Given the description of an element on the screen output the (x, y) to click on. 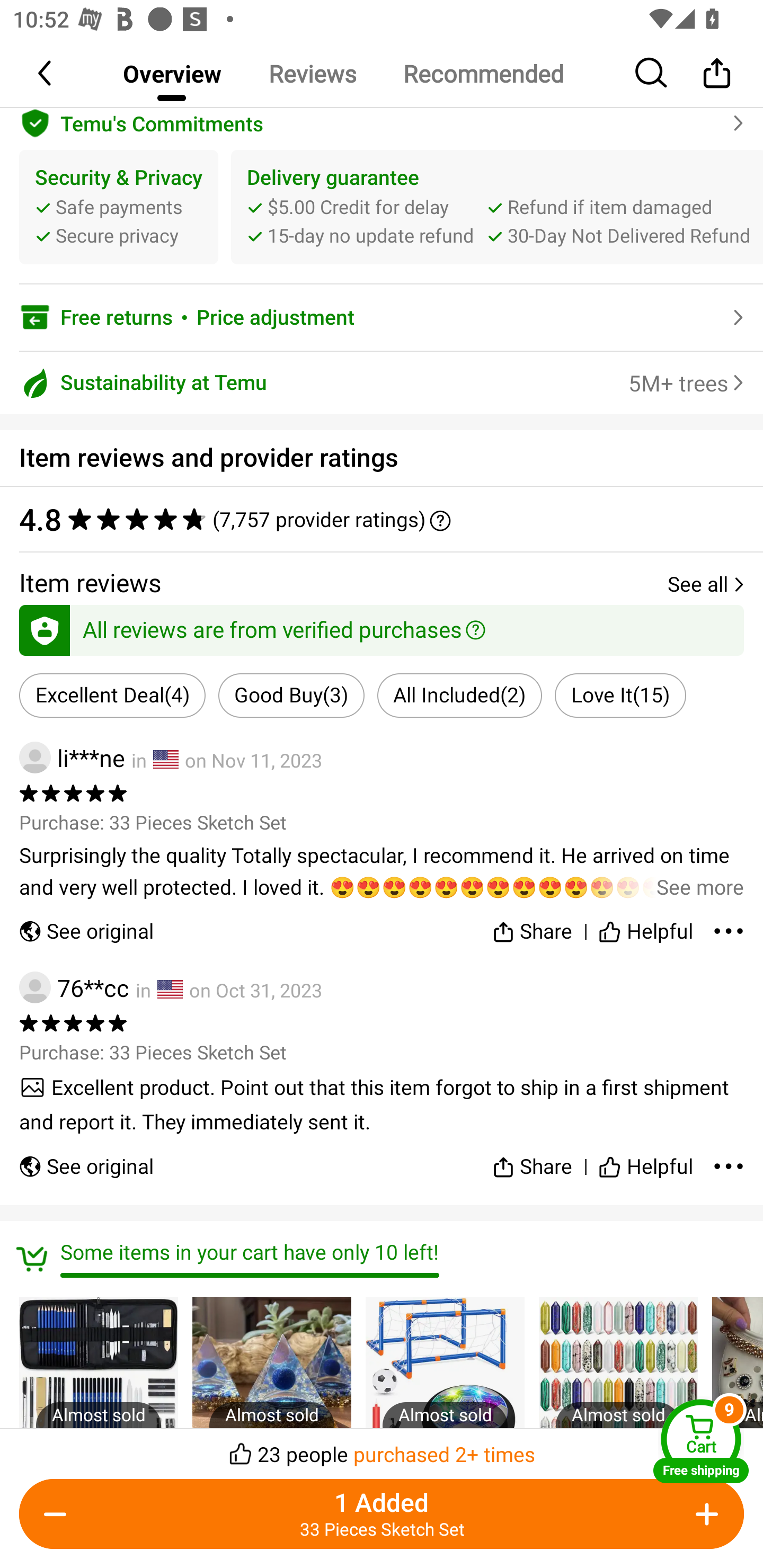
Overview (171, 72)
Reviews (311, 72)
Recommended (482, 72)
Back (46, 72)
Share (716, 72)
Temu's Commitments (381, 120)
Security & Privacy Safe payments Secure privacy (118, 207)
Free returns￼Price adjustment (381, 317)
Sustainability at Temu 5M+ trees (381, 382)
4.8 ‪(7,757 provider ratings) (381, 518)
All reviews are from verified purchases  (381, 626)
Excellent Deal(4) (112, 695)
Good Buy(3) (291, 695)
All Included(2) (458, 695)
Love It(15) (619, 695)
li***ne (72, 757)
See more (381, 871)
  See original (86, 927)
  Share (532, 927)
  Helpful (645, 927)
76**cc (73, 987)
  See original (86, 1158)
  Share (532, 1158)
  Helpful (645, 1158)
Cart Free shipping Cart (701, 1440)
Decrease Quantity Button (59, 1513)
Add Quantity button (703, 1513)
